Given the description of an element on the screen output the (x, y) to click on. 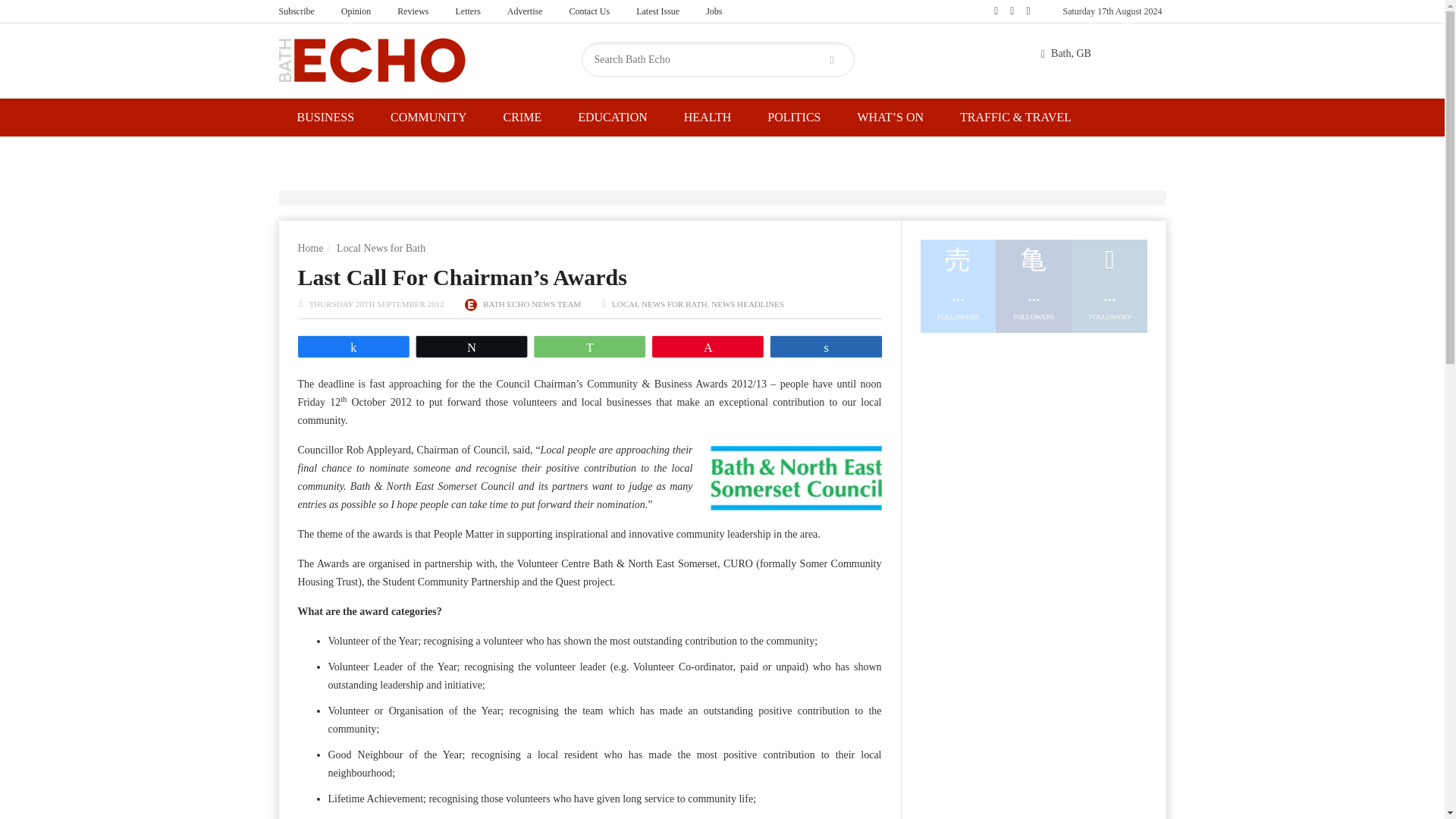
Local News for Bath (380, 247)
Home (310, 247)
Contact Us (589, 11)
NEWS HEADLINES (747, 303)
CRIME (522, 116)
Advertise (525, 11)
View all posts in News Headlines (747, 303)
BUSINESS (325, 116)
Opinion (355, 11)
BATH ECHO NEWS TEAM (531, 303)
